Given the description of an element on the screen output the (x, y) to click on. 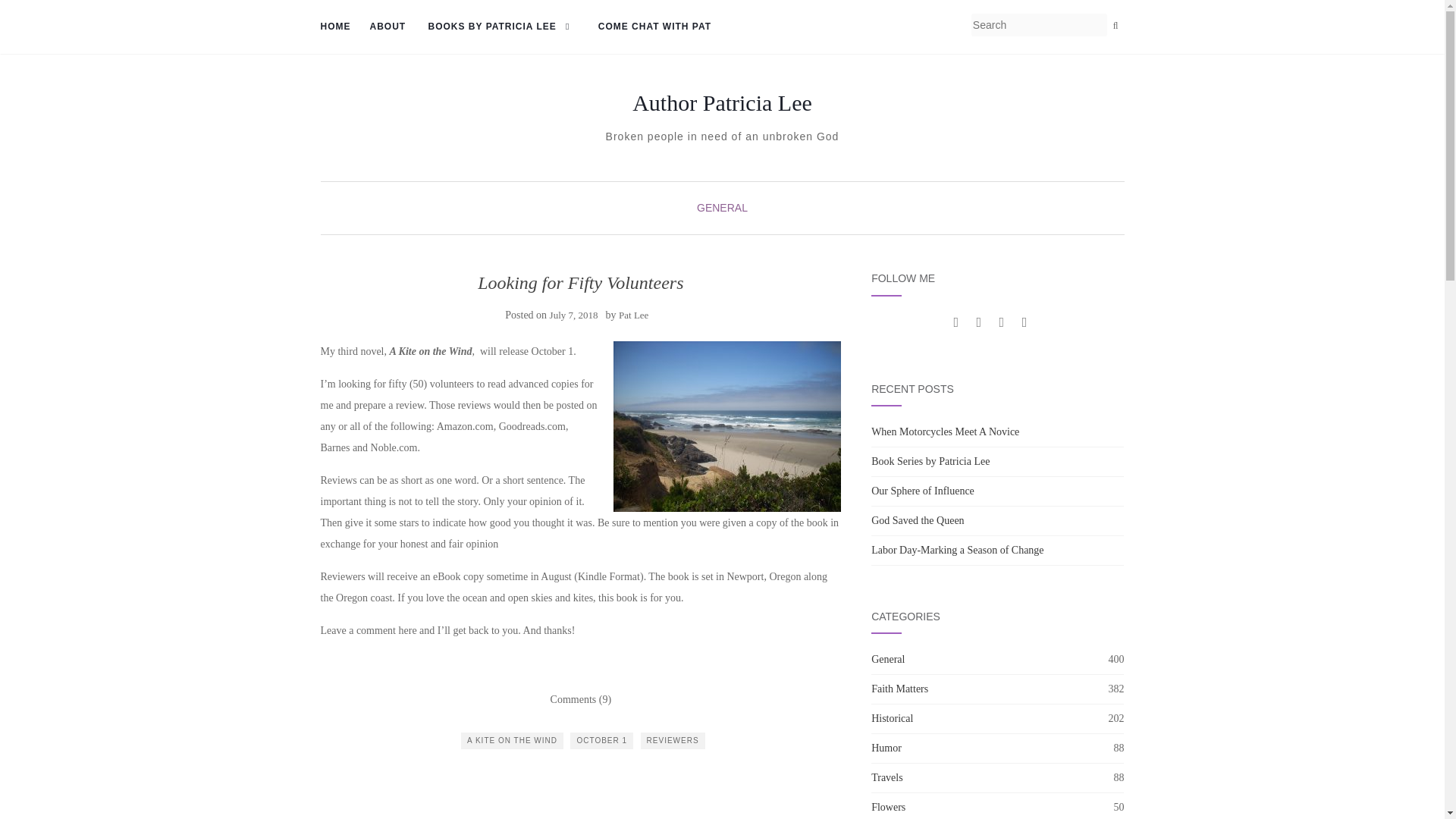
Author Patricia Lee (721, 102)
Come Chat with Pat (654, 27)
GENERAL (722, 207)
A KITE ON THE WIND (512, 740)
Books by Patricia Lee (502, 27)
Pat Lee (632, 315)
REVIEWERS (672, 740)
OCTOBER 1 (601, 740)
July 7, 2018 (574, 315)
 BOOKS BY PATRICIA LEE (502, 27)
